Given the description of an element on the screen output the (x, y) to click on. 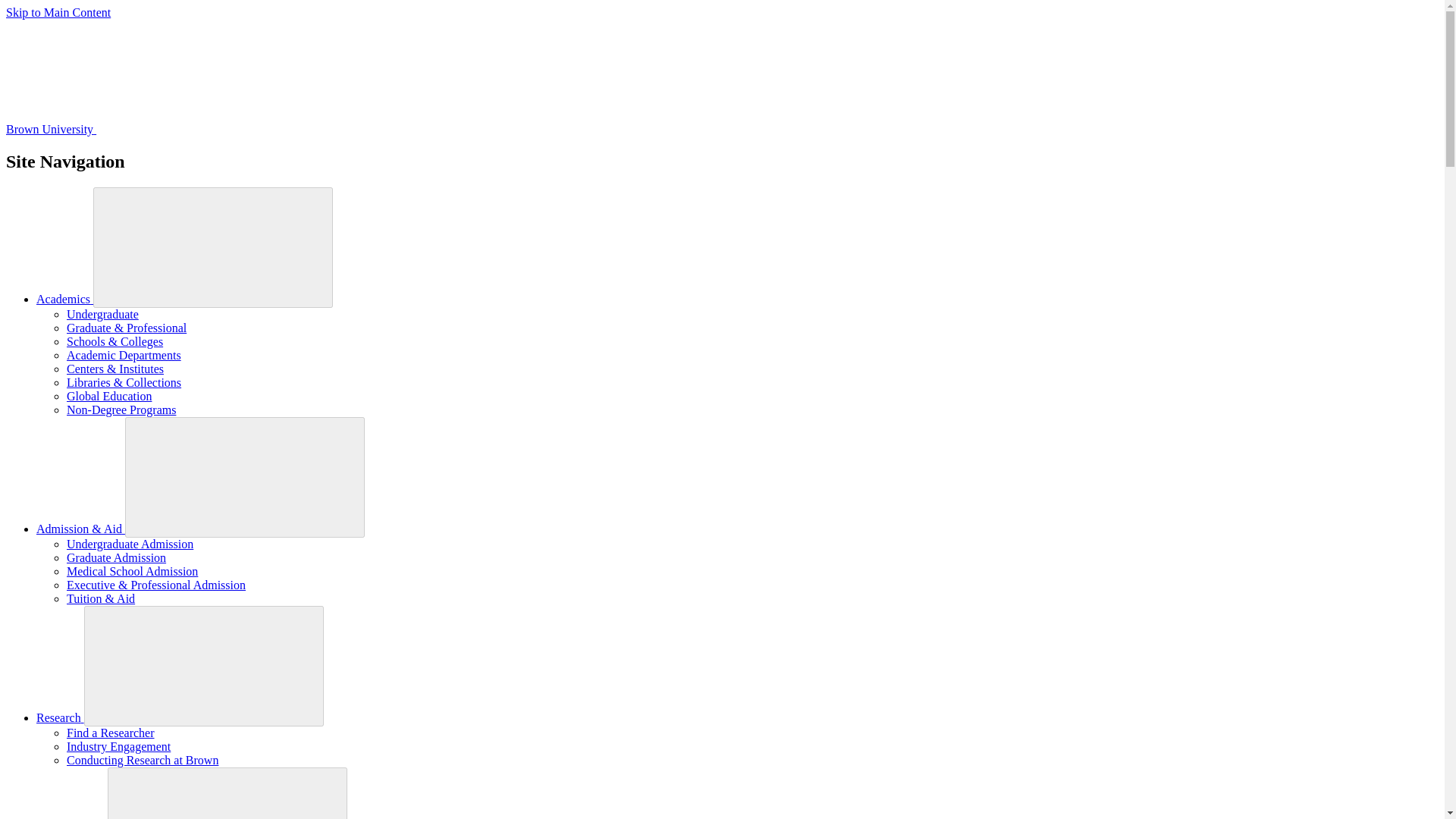
Academics (64, 298)
Non-Degree Programs (121, 409)
Find a Researcher (110, 732)
Conducting Research at Brown (142, 759)
Industry Engagement (118, 746)
Global Education (108, 395)
Medical School Admission (132, 571)
Research (60, 717)
Undergraduate (102, 314)
Undergraduate Admission (129, 543)
Skip to Main Content (57, 11)
Brown University (164, 128)
Graduate Admission (115, 557)
Academic Departments (123, 354)
